Given the description of an element on the screen output the (x, y) to click on. 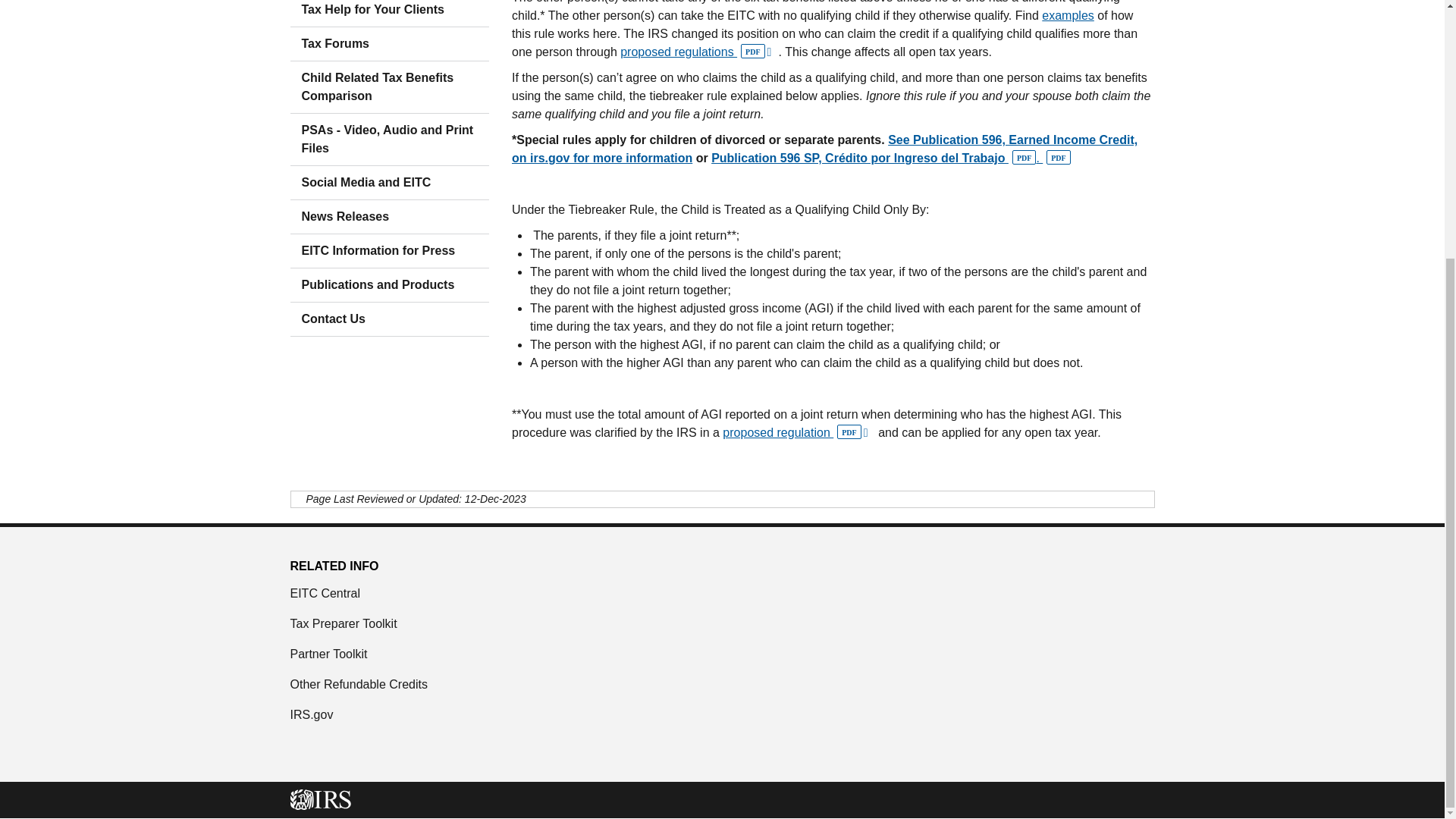
Child Related Tax Benefits Comparison (389, 87)
PSAs - Video, Audio and Print Files (389, 139)
proposed regulation PDF (798, 431)
Social Media and EITC (389, 182)
EITC Information for Press (389, 250)
Tax Help for Your Clients (389, 13)
Link to Federal Register Vol 82 No 12, see page 6377 (698, 51)
EITC Information for Press (389, 250)
Other Refundable Credits (721, 684)
Child Related Tax Benefits Comparison (389, 87)
Tax Forums (389, 43)
Social Media and EITC (389, 182)
EITC Central (721, 593)
Publications and Products (389, 285)
Tax Preparer Toolkit (721, 624)
